Given the description of an element on the screen output the (x, y) to click on. 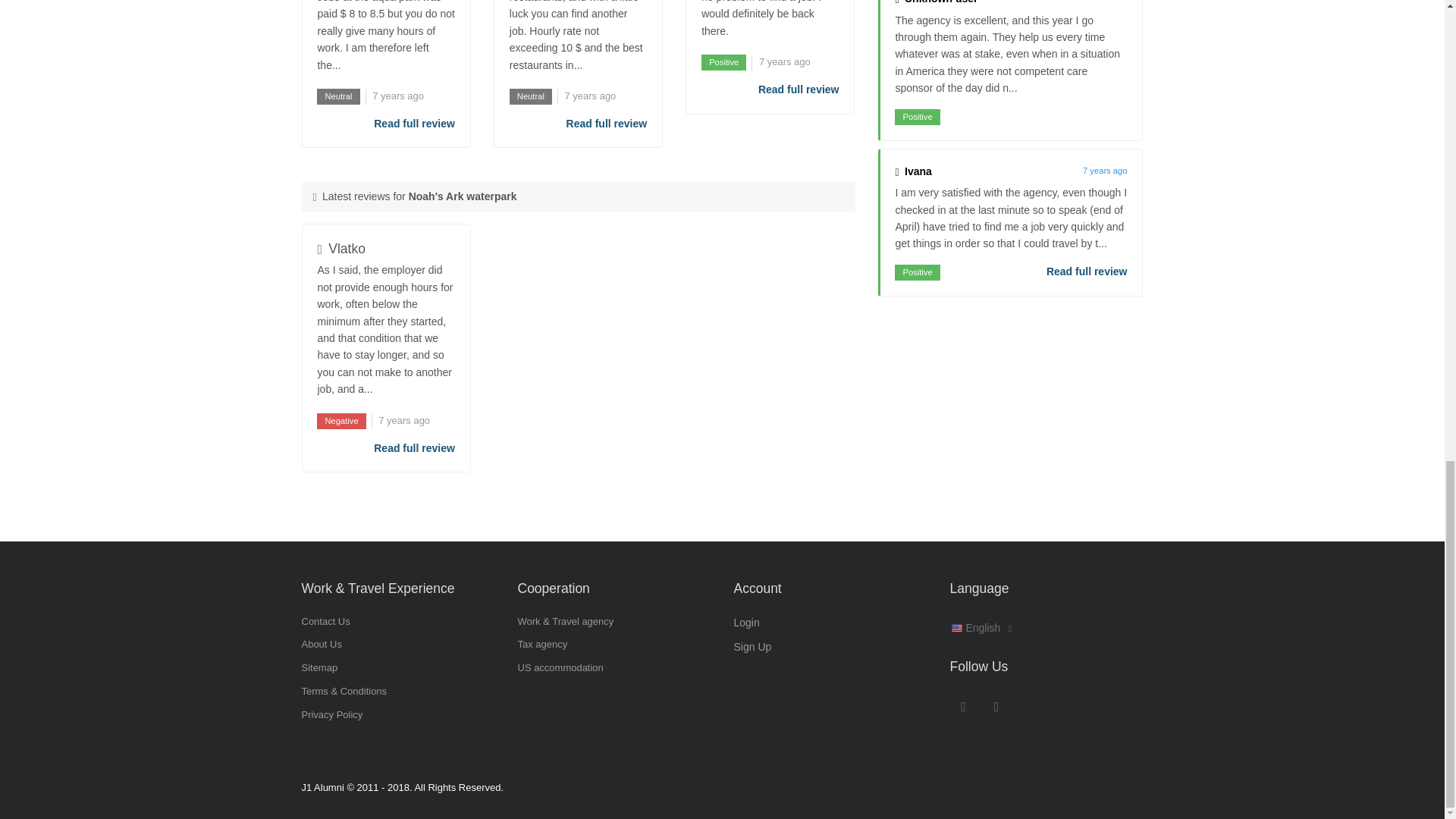
Read full review (799, 89)
Contact Us (325, 621)
Read full review (606, 123)
Sitemap (319, 667)
Read full review (1086, 271)
Read full review (414, 123)
About Us (321, 644)
Read full review (414, 447)
Privacy Policy (331, 714)
